Given the description of an element on the screen output the (x, y) to click on. 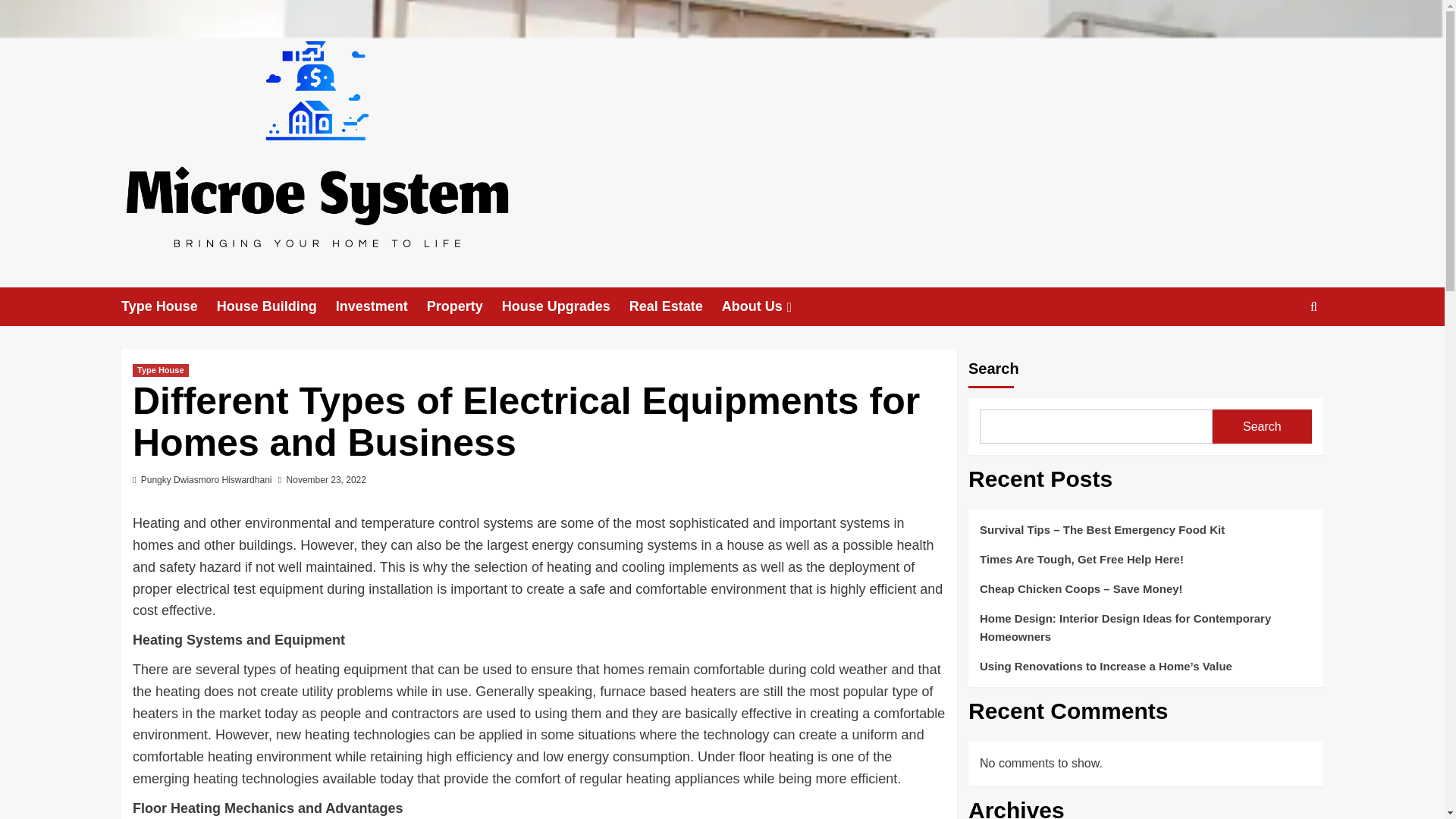
Search (1261, 426)
Real Estate (675, 306)
About Us (768, 306)
Type House (160, 369)
Search (1278, 353)
Pungky Dwiasmoro Hiswardhani (206, 480)
House Upgrades (565, 306)
November 23, 2022 (326, 480)
Investment (381, 306)
Type House (168, 306)
